Given the description of an element on the screen output the (x, y) to click on. 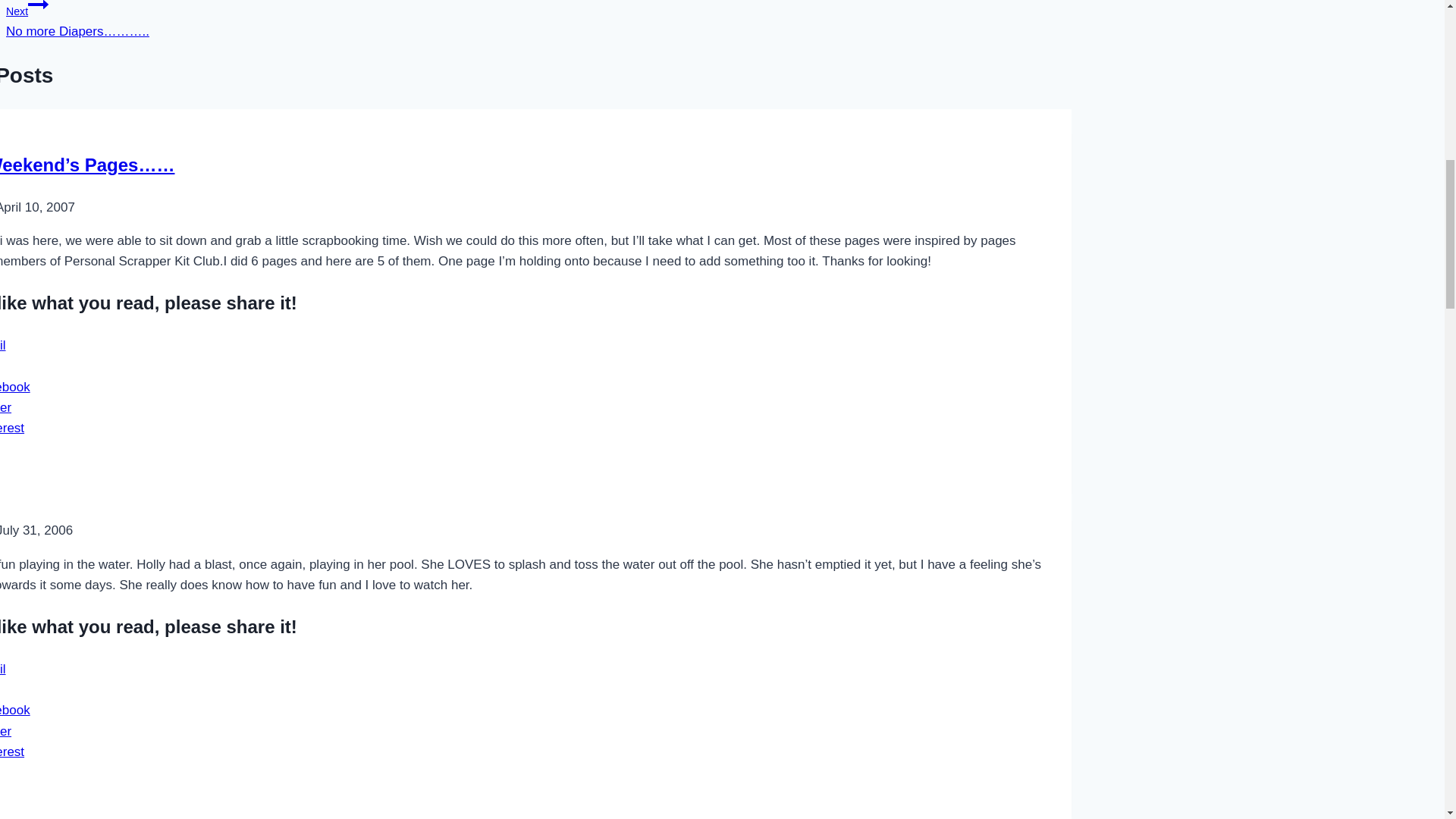
Continue (37, 7)
Click to share on Facebook (15, 386)
Facebook (15, 386)
Facebook (15, 709)
Pinterest (12, 427)
Click to share on Pinterest (12, 427)
Click to share on Facebook (15, 709)
Pinterest (12, 751)
Click to share on Pinterest (12, 751)
